Given the description of an element on the screen output the (x, y) to click on. 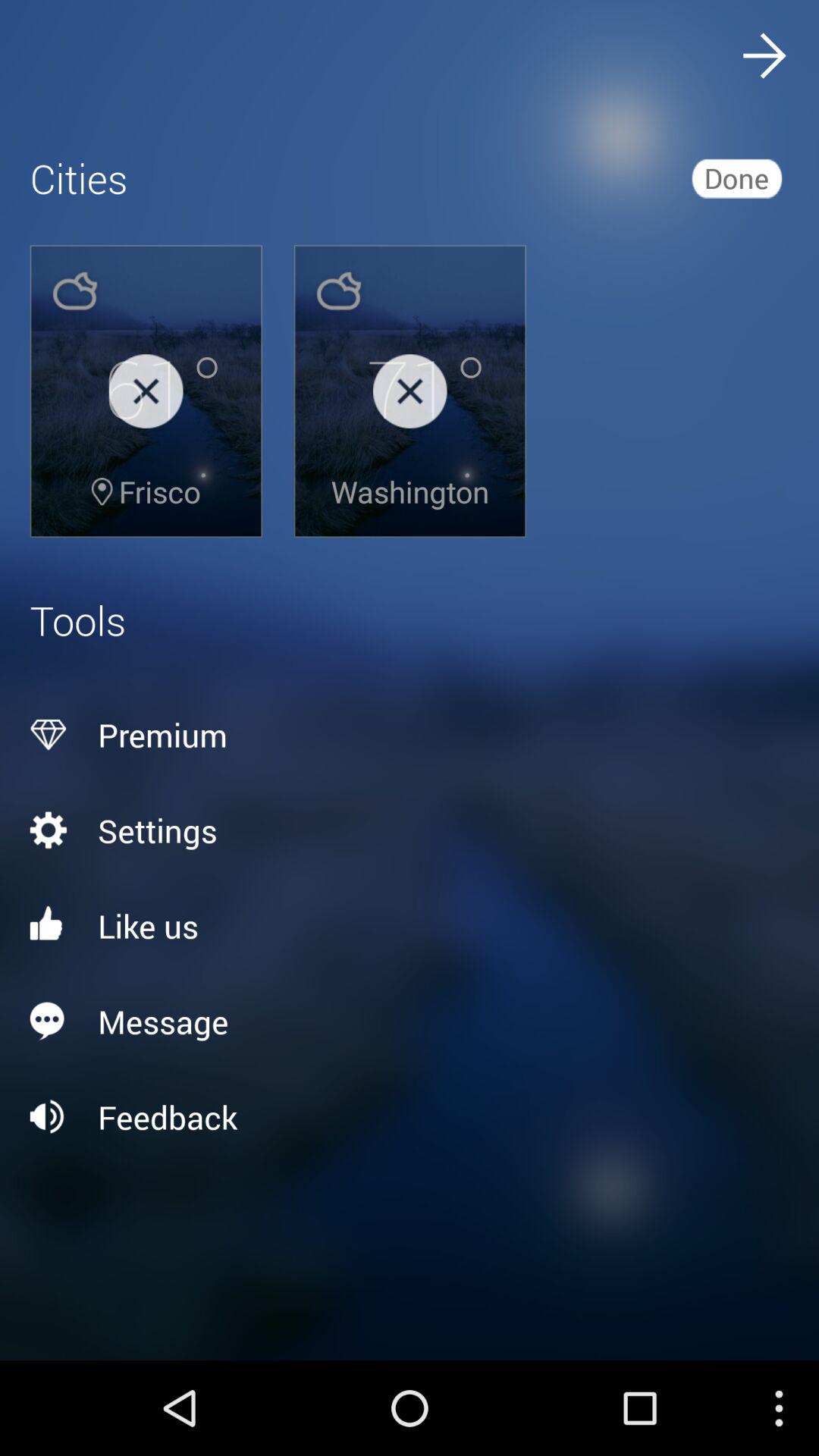
launch like us (409, 925)
